Given the description of an element on the screen output the (x, y) to click on. 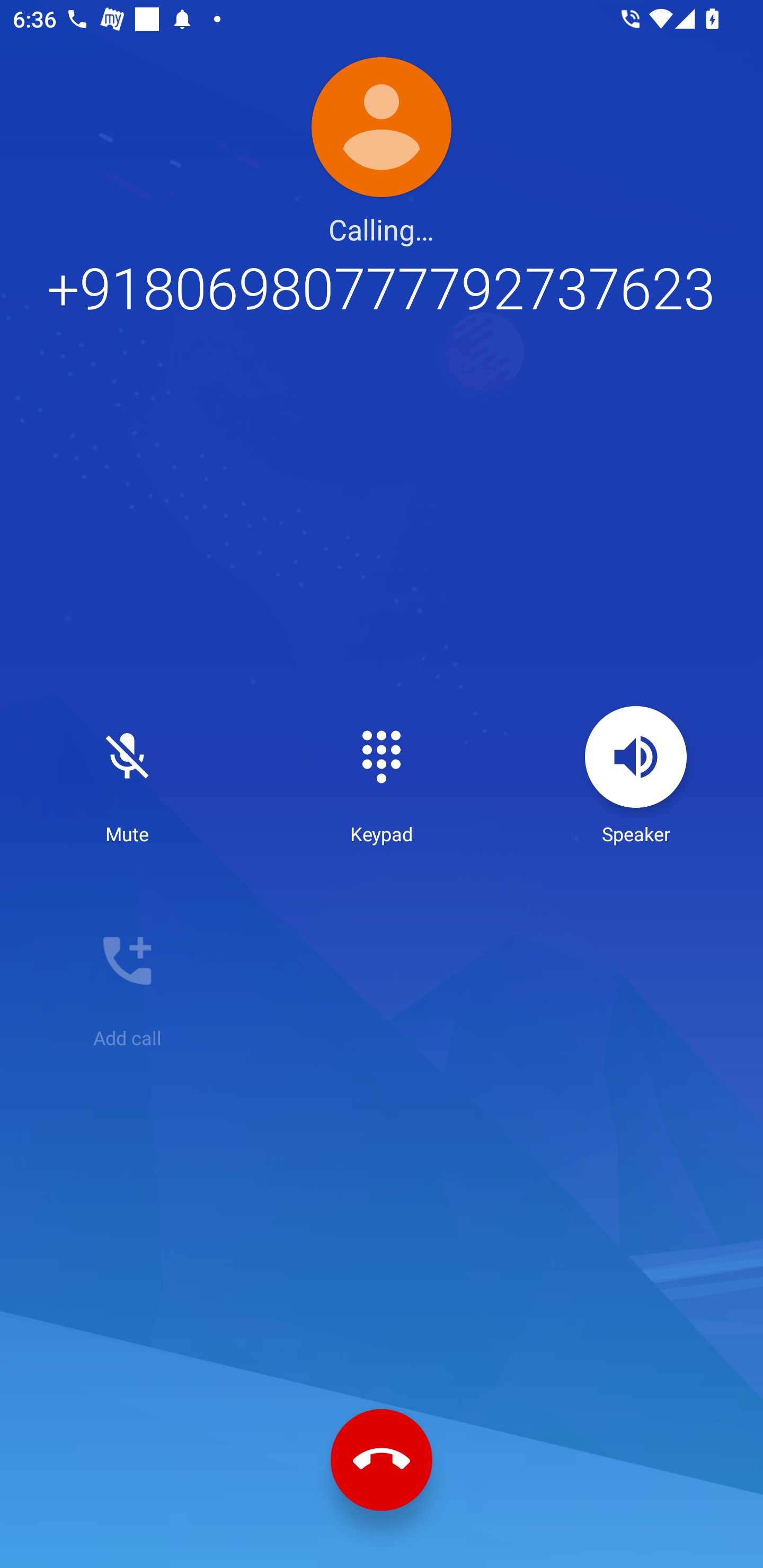
Unmuted Mute (127, 775)
Keypad (381, 775)
Speaker, is on Speaker (635, 775)
Add call (127, 979)
End call (381, 1460)
